Given the description of an element on the screen output the (x, y) to click on. 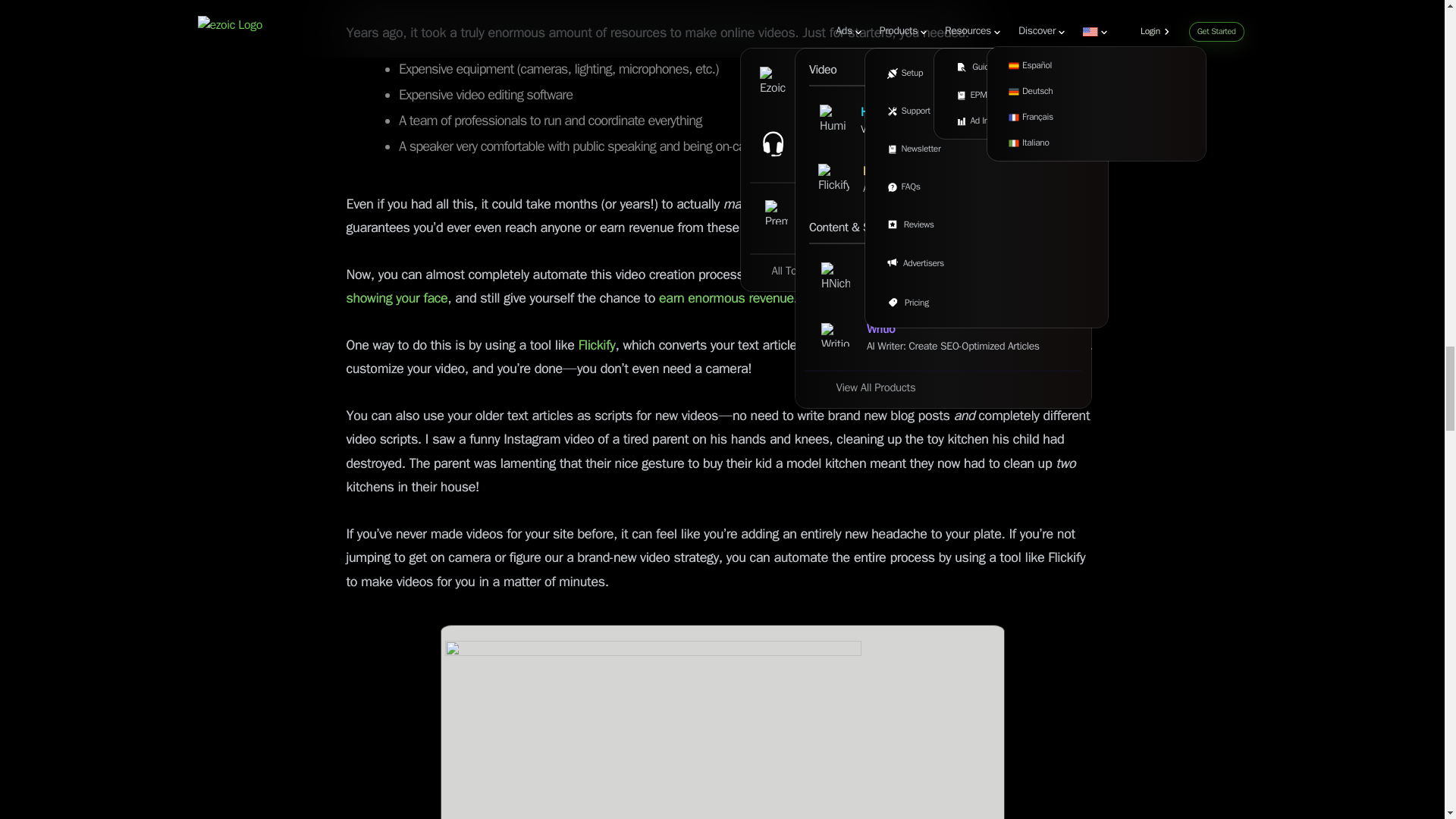
earn enormous revenue (724, 298)
without ever showing your face (704, 286)
Flickify (595, 345)
